Given the description of an element on the screen output the (x, y) to click on. 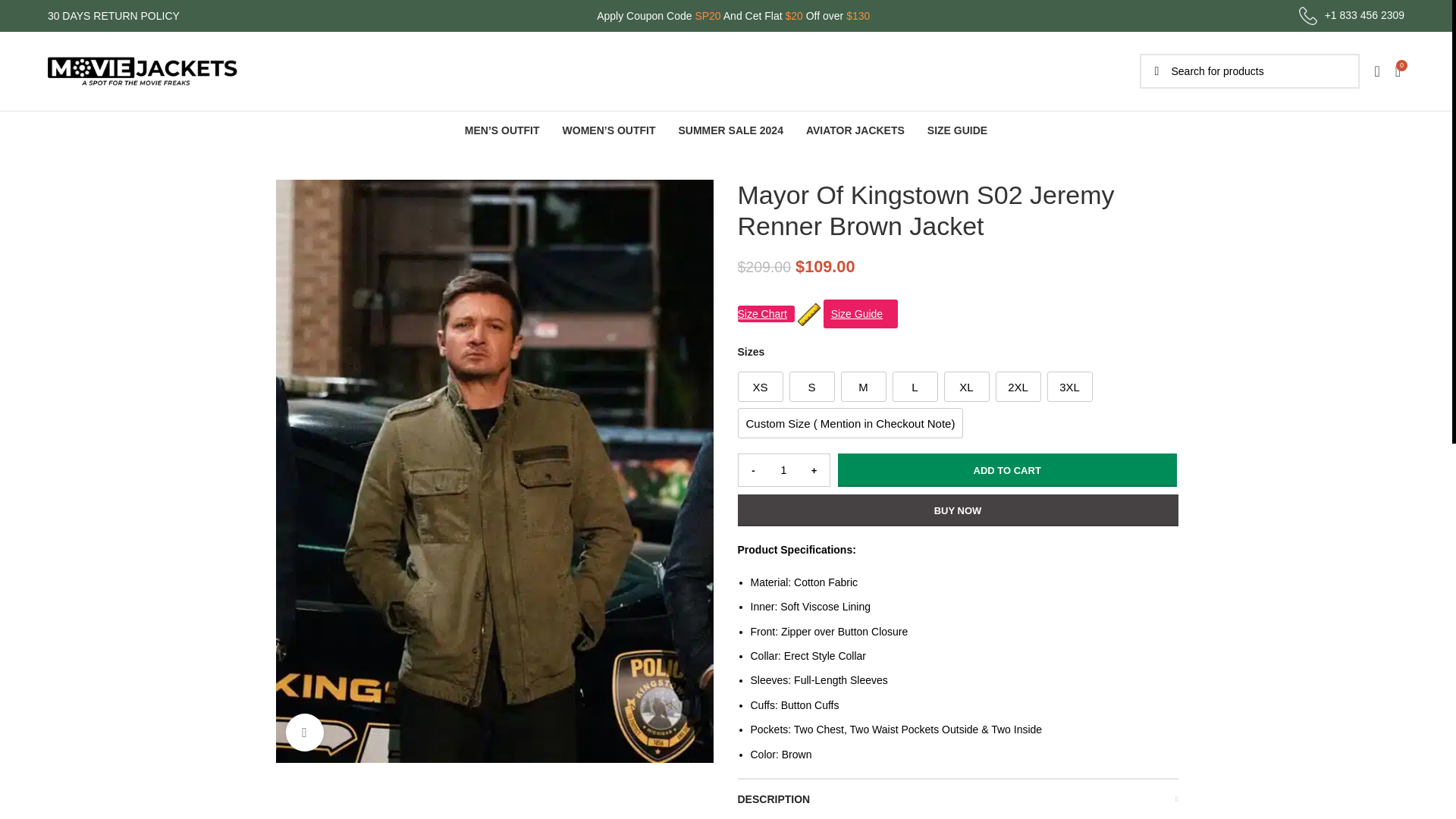
Log in (1254, 312)
Search for products (1248, 71)
AVIATOR JACKETS (855, 130)
- (753, 470)
FAQ (516, 612)
Shipping and Delivery (326, 702)
BUY NOW (956, 510)
Terms and Conditions (326, 672)
Size Chart (299, 612)
Size Guide (531, 643)
Size Chart (764, 313)
SIZE GUIDE (957, 130)
1 (783, 470)
ADD TO CART (1006, 469)
SEARCH (1155, 71)
